Given the description of an element on the screen output the (x, y) to click on. 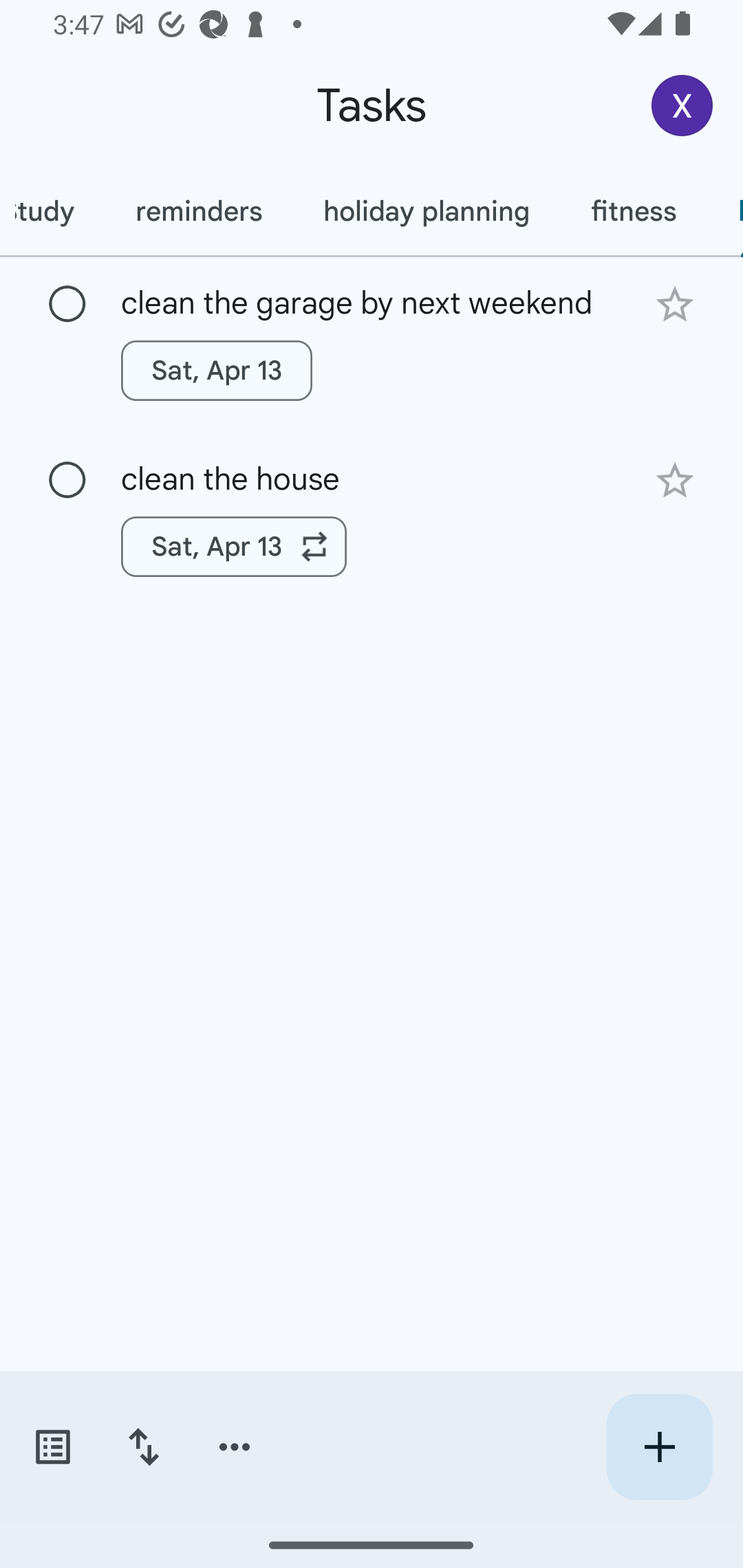
reminders (198, 211)
holiday planning (426, 211)
fitness (633, 211)
Add star (674, 303)
Mark as complete (67, 304)
Sat, Apr 13 (216, 369)
Add star (674, 480)
Mark as complete (67, 480)
Sat, Apr 13 (233, 546)
Switch task lists (52, 1447)
Create new task (659, 1446)
Change sort order (143, 1446)
More options (234, 1446)
